Given the description of an element on the screen output the (x, y) to click on. 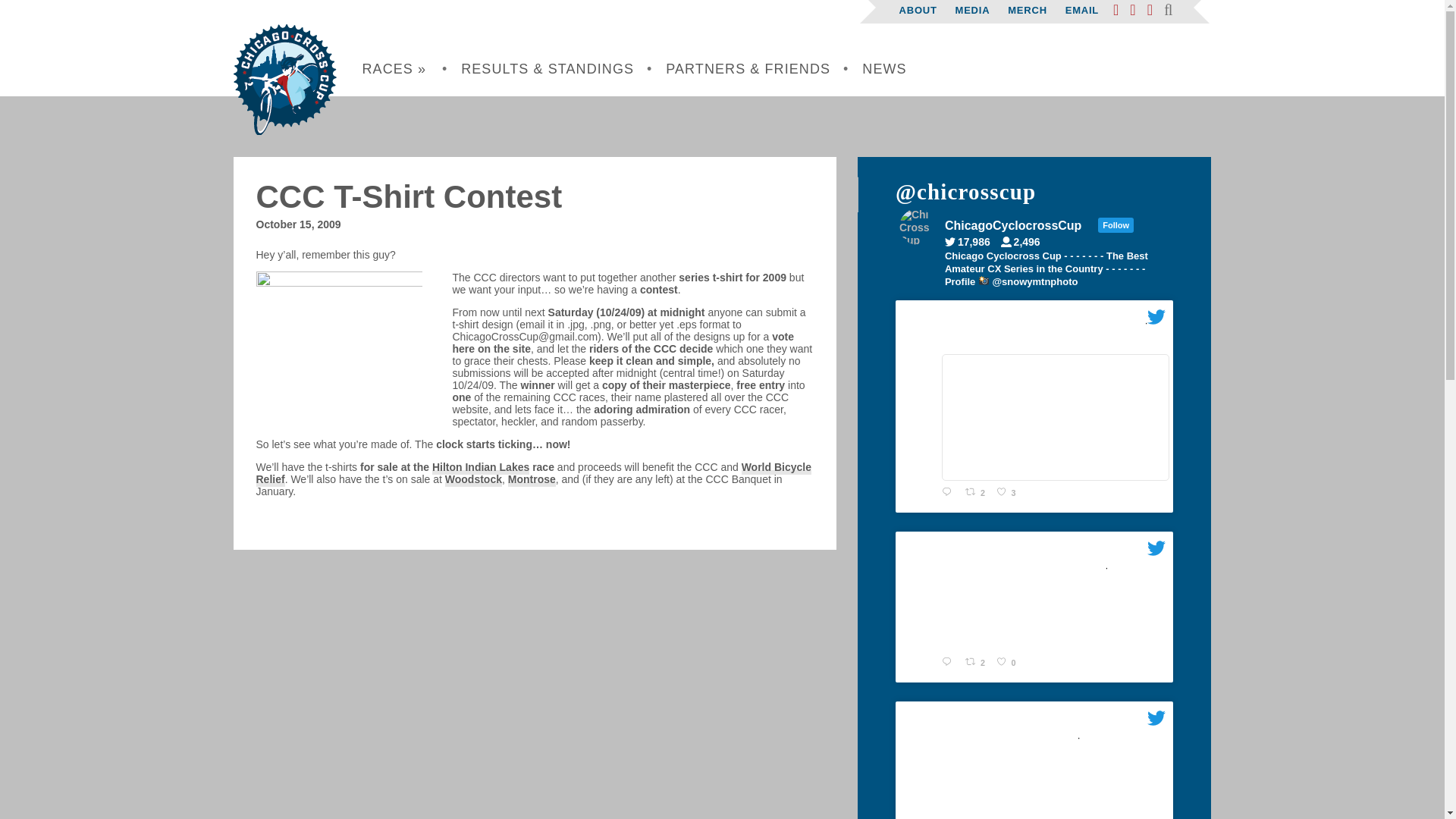
MERCH (1027, 9)
2,496 Followers (1024, 241)
World Bicycle Relief (533, 473)
17,986 Tweets (970, 241)
NEWS (884, 68)
MEDIA (972, 9)
Hilton Indian Lakes (480, 468)
EMAIL (1082, 9)
2008 T-Shirt (354, 345)
ABOUT (917, 9)
Search (107, 307)
